Given the description of an element on the screen output the (x, y) to click on. 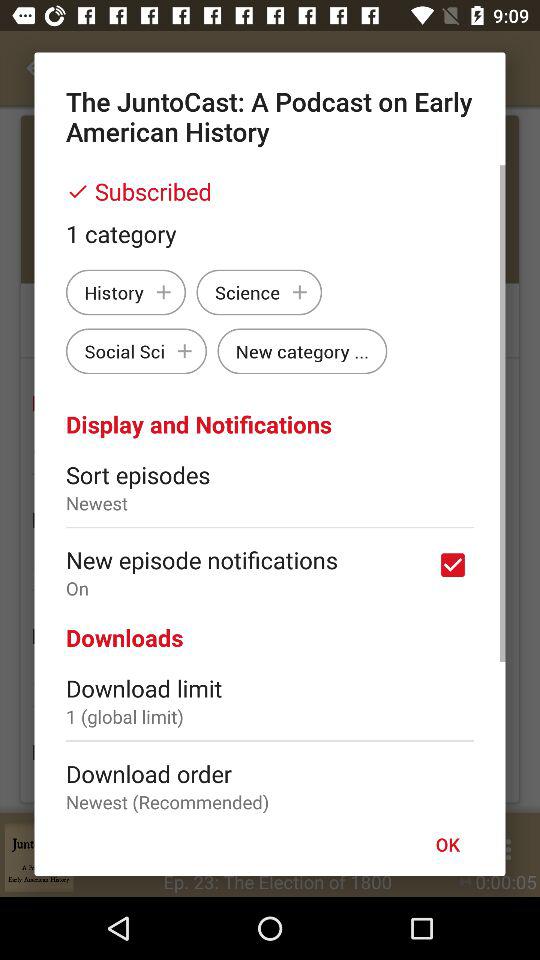
launch the item next to the newest (recommended) icon (447, 844)
